Given the description of an element on the screen output the (x, y) to click on. 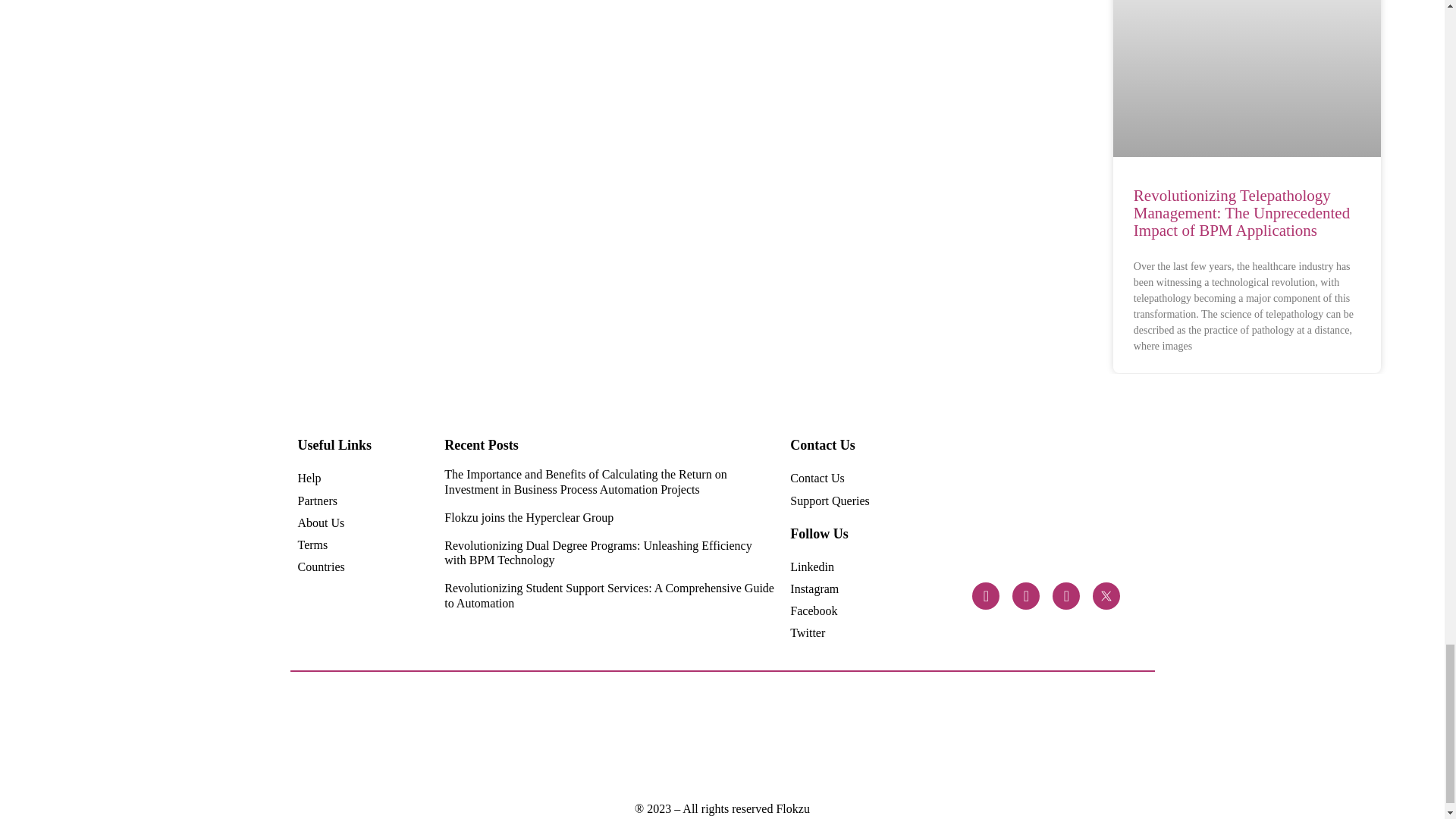
frontrunner 2024 (494, 737)
good firms top bpm-footer (945, 737)
Top Performer Flokzu 2024-2 (559, 737)
Top Performer Flokzu 2024-1 (688, 737)
getapp best functionality and features-footer (1010, 737)
category leaders 2024 (430, 737)
